Given the description of an element on the screen output the (x, y) to click on. 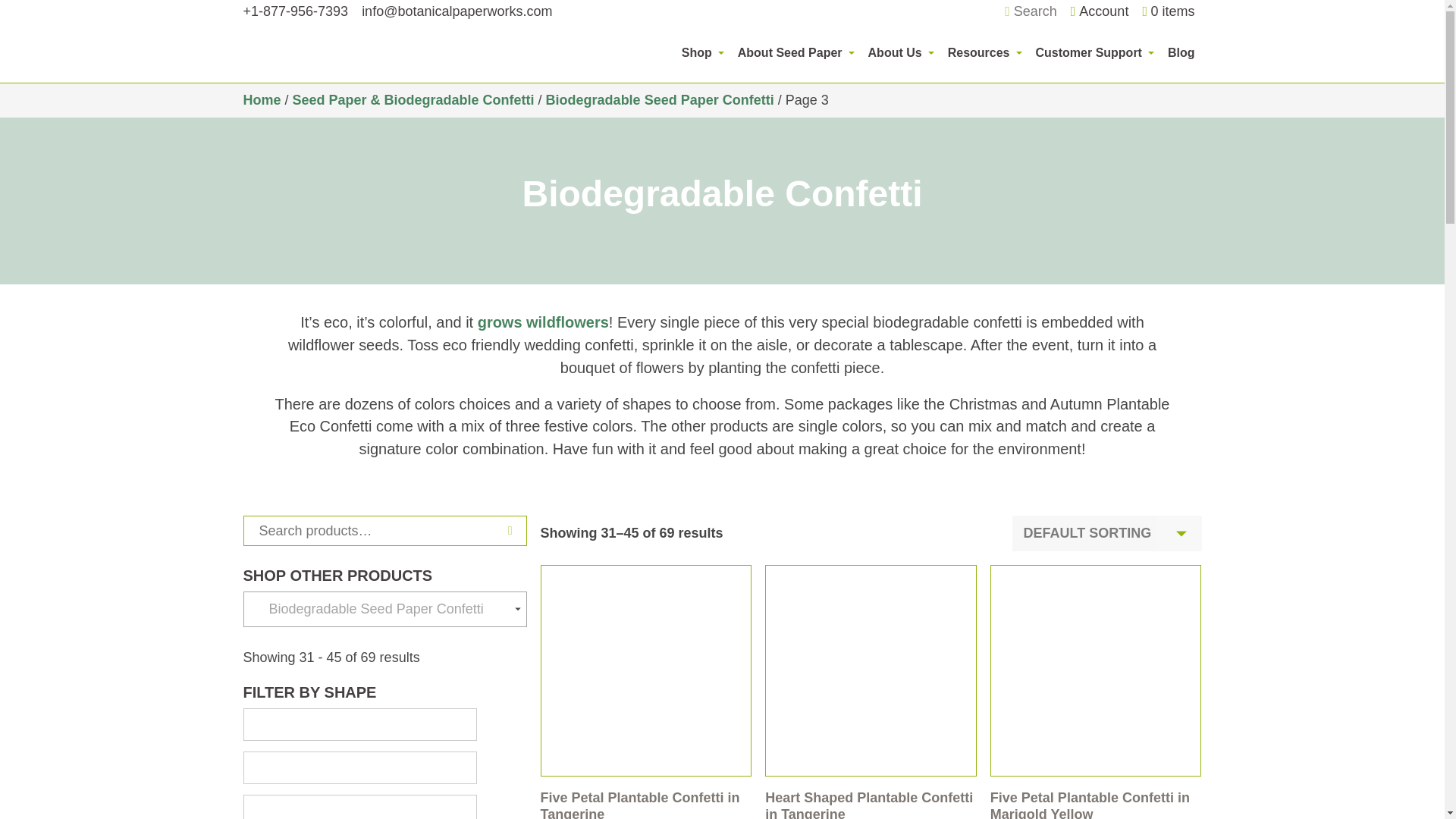
Search (1030, 11)
Start shopping (1167, 11)
Account (1099, 10)
Shop (702, 52)
0 items (1167, 11)
